Given the description of an element on the screen output the (x, y) to click on. 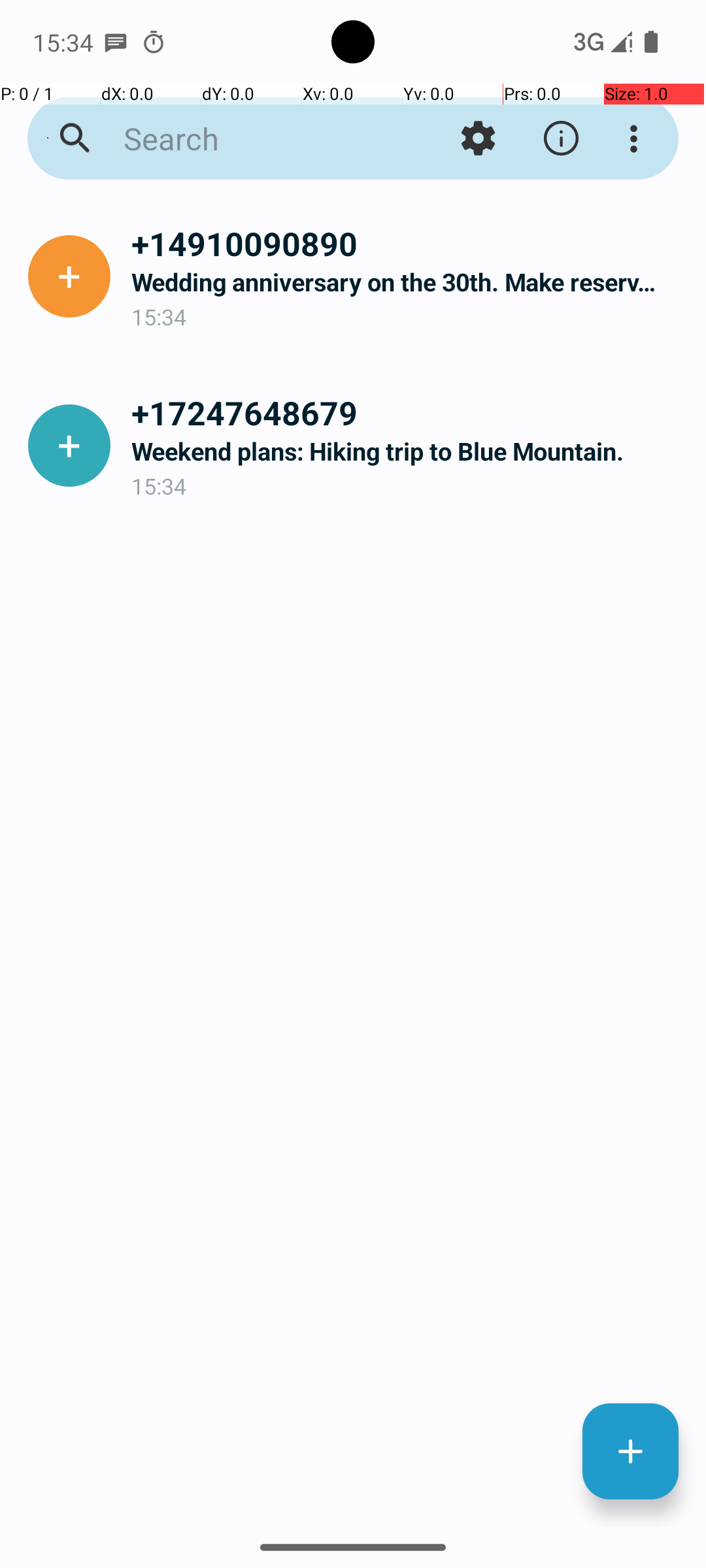
+14910090890 Element type: android.widget.TextView (408, 242)
Wedding anniversary on the 30th. Make reservations! Element type: android.widget.TextView (408, 281)
+17247648679 Element type: android.widget.TextView (408, 412)
Weekend plans: Hiking trip to Blue Mountain. Element type: android.widget.TextView (408, 450)
